Given the description of an element on the screen output the (x, y) to click on. 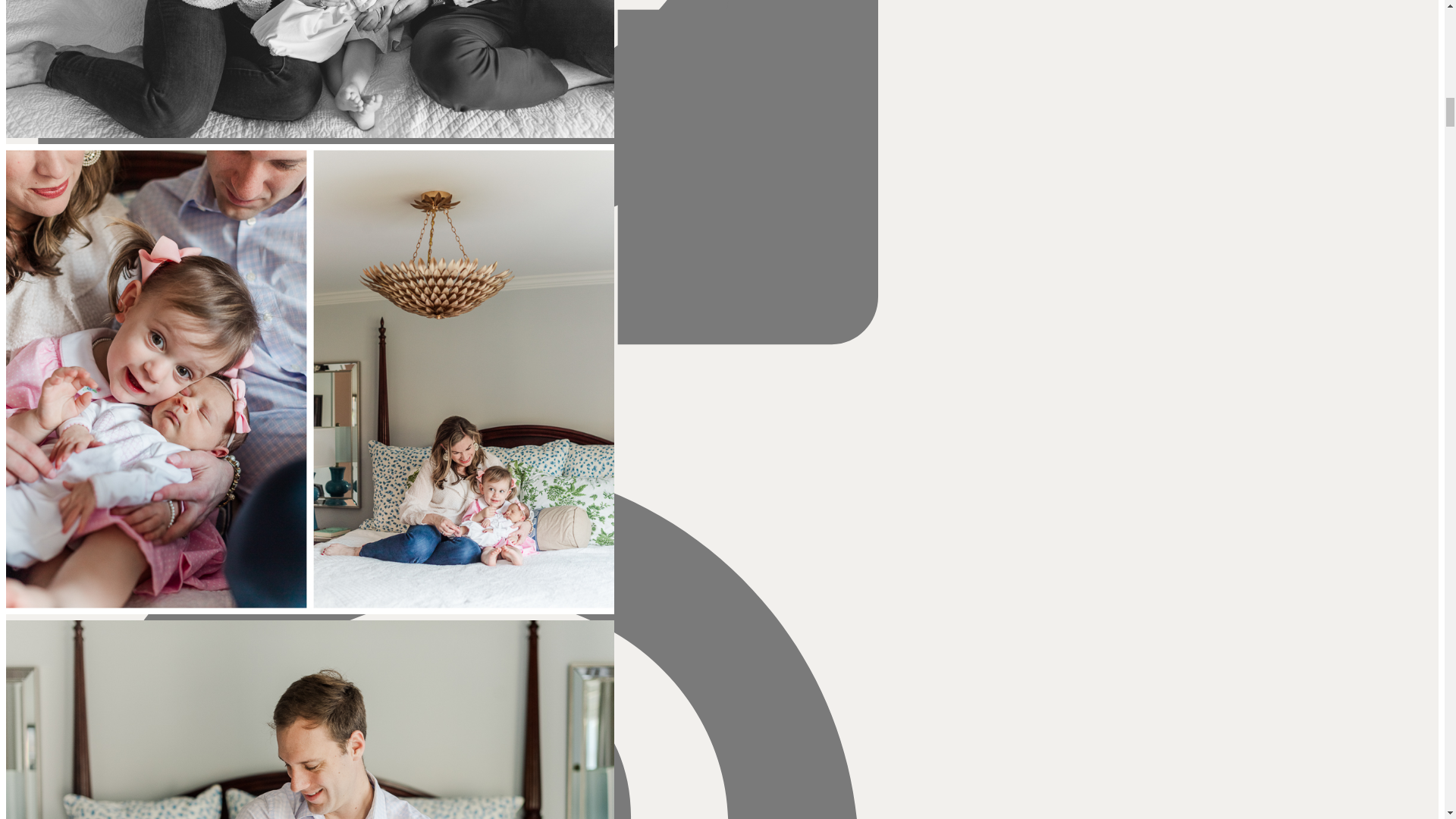
CONTACT ME (460, 445)
A photographer of new beginnings... (460, 573)
MY WORK (460, 400)
BLOG (460, 422)
THE DETAILS (460, 377)
HOME (460, 331)
ABOUT (460, 354)
